Given the description of an element on the screen output the (x, y) to click on. 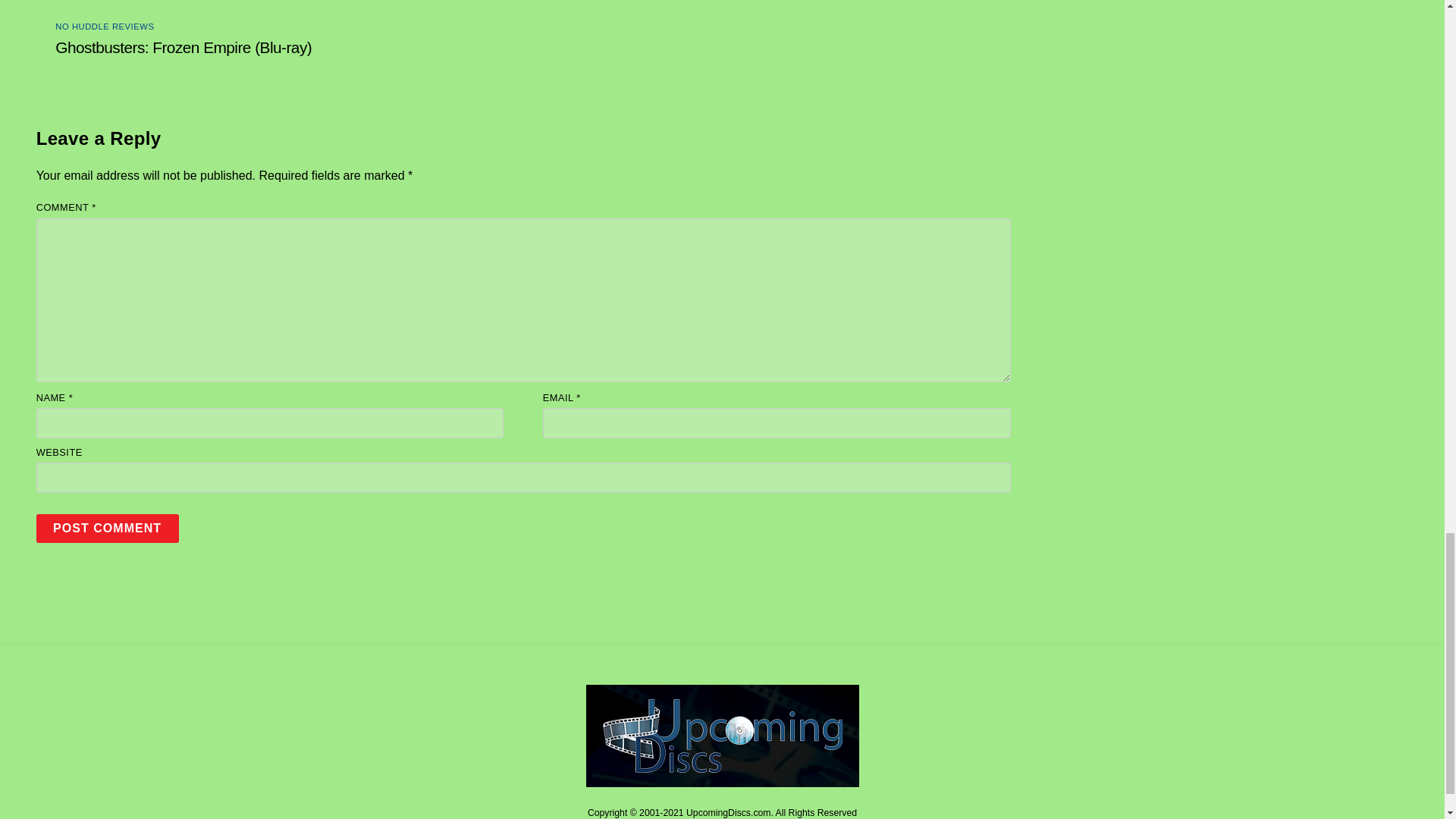
NO HUDDLE REVIEWS (104, 26)
Post Comment (107, 528)
Post Comment (107, 528)
UpcomingDiscs.com (722, 781)
